Given the description of an element on the screen output the (x, y) to click on. 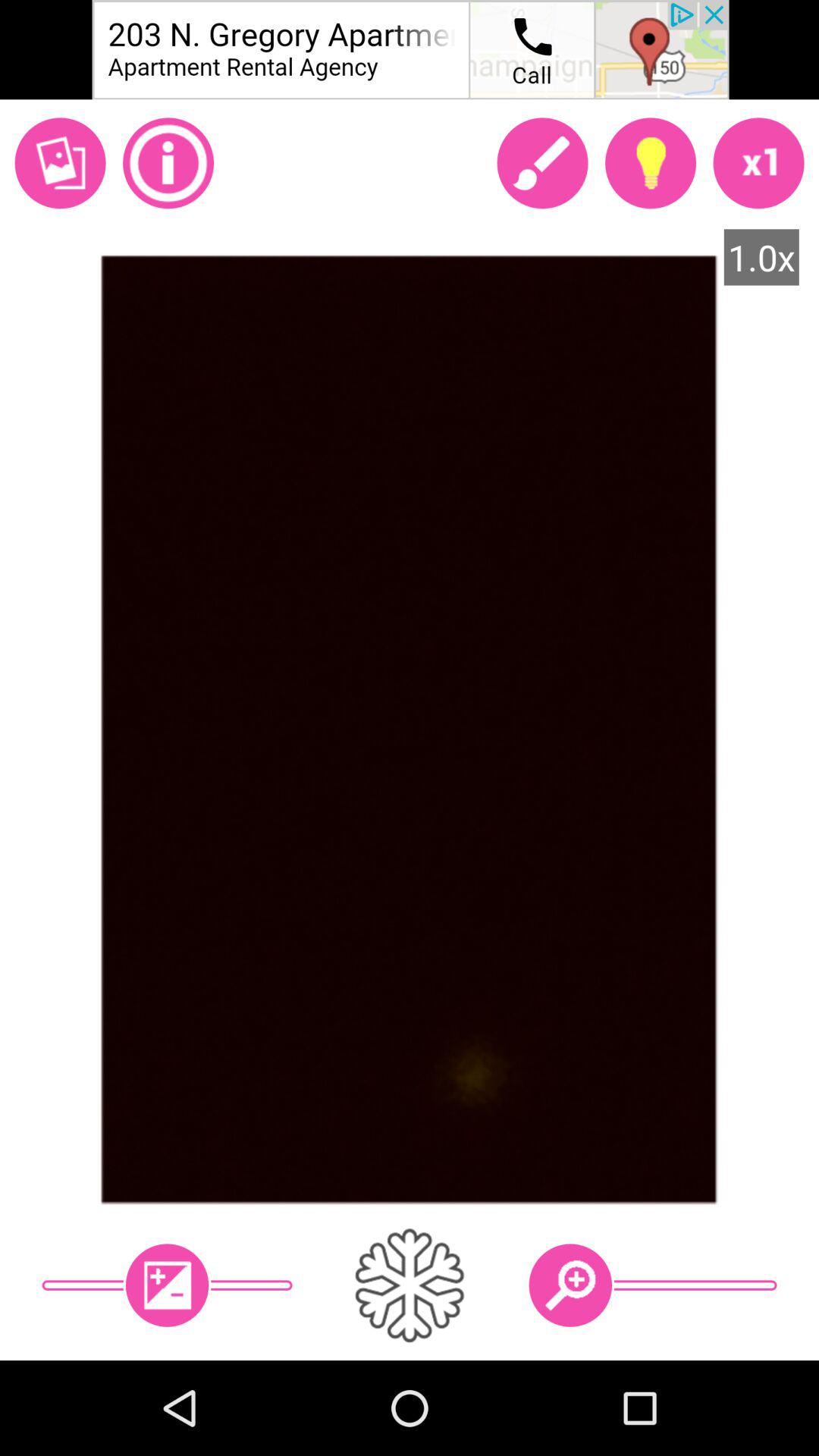
open gallery images (60, 163)
